Given the description of an element on the screen output the (x, y) to click on. 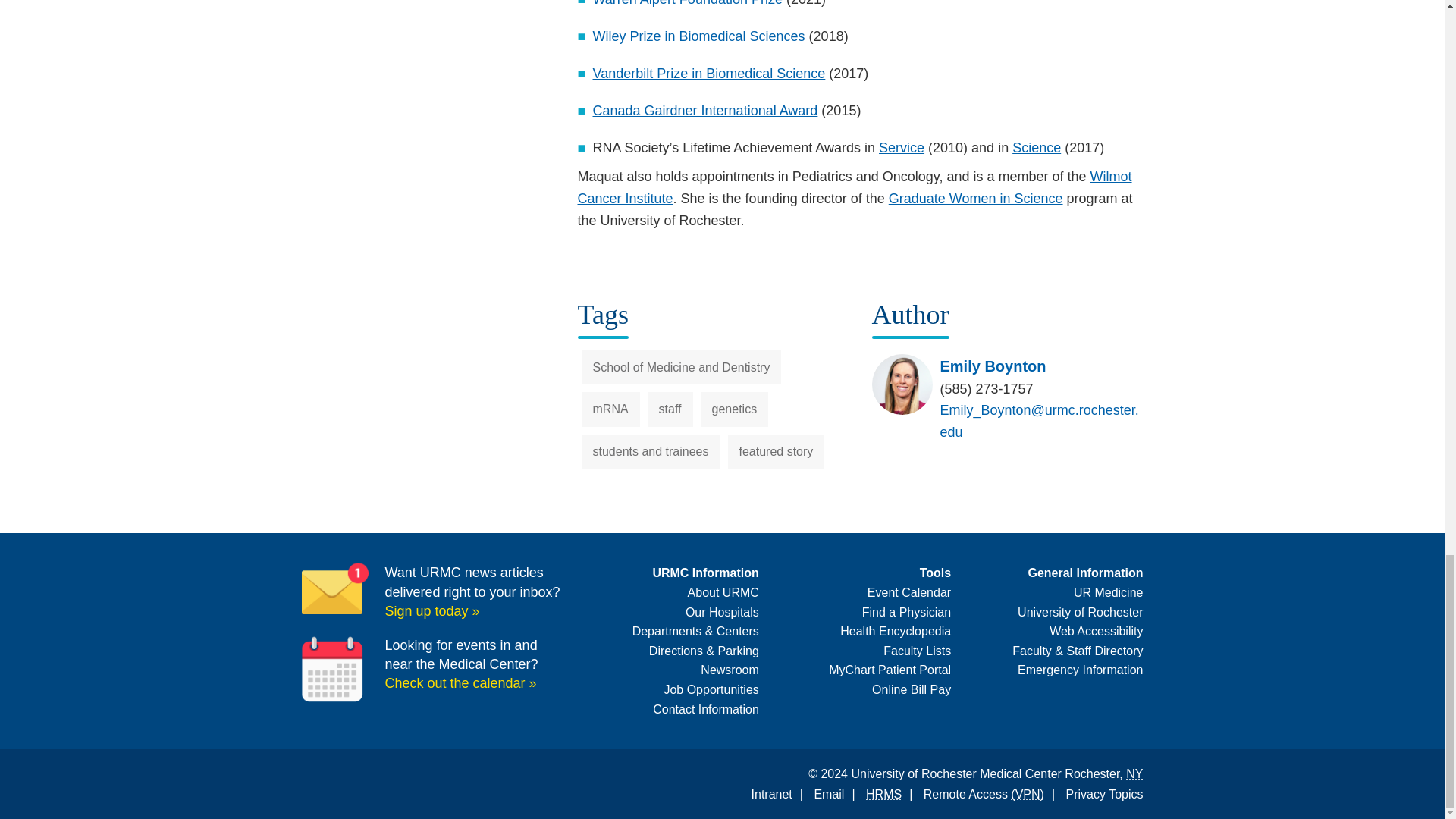
New York (1133, 773)
Human Resources Management System (883, 793)
Virtual Private Network (1026, 793)
